Given the description of an element on the screen output the (x, y) to click on. 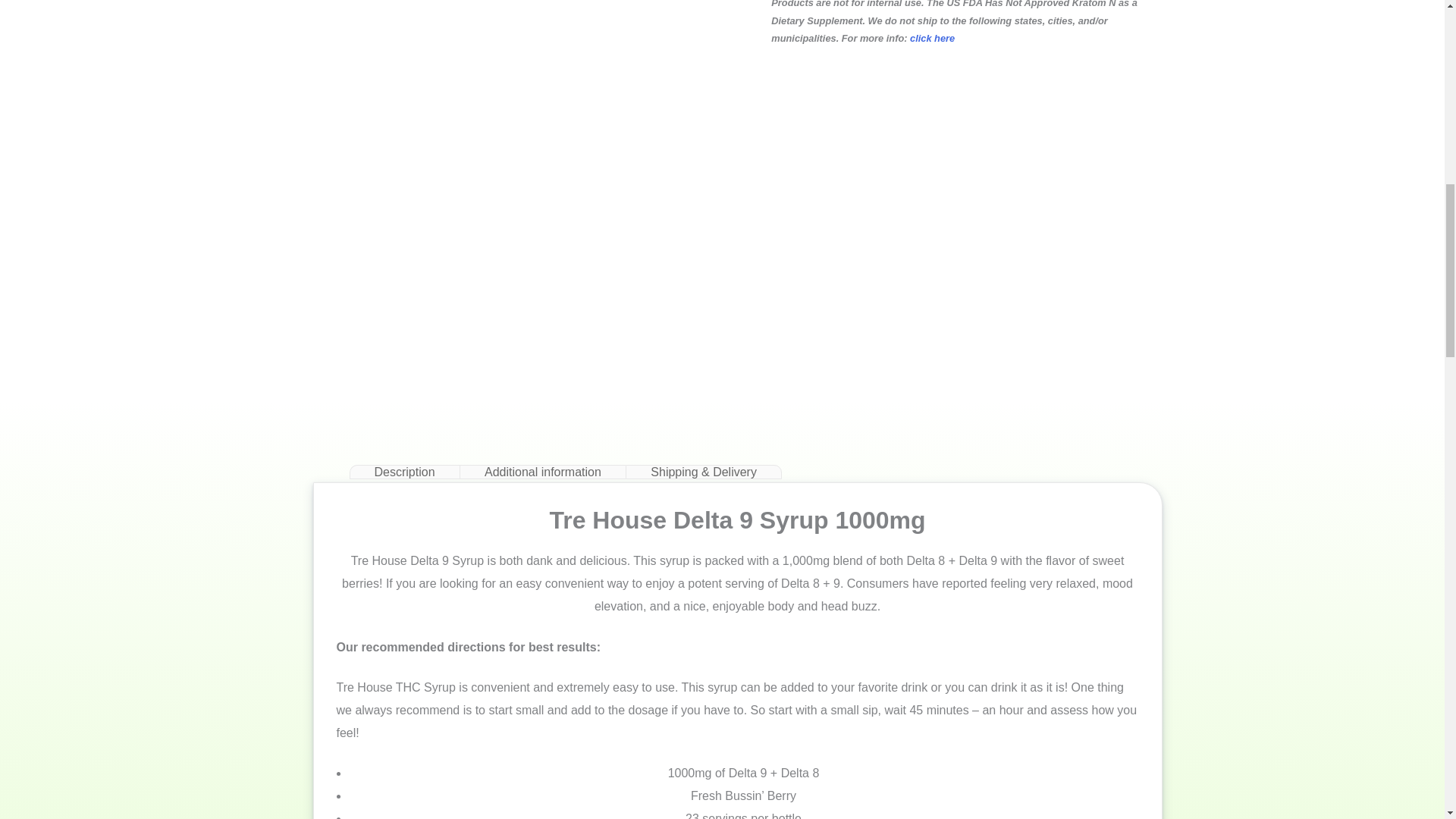
Additional information (543, 472)
Description (403, 472)
click here (932, 38)
